Given the description of an element on the screen output the (x, y) to click on. 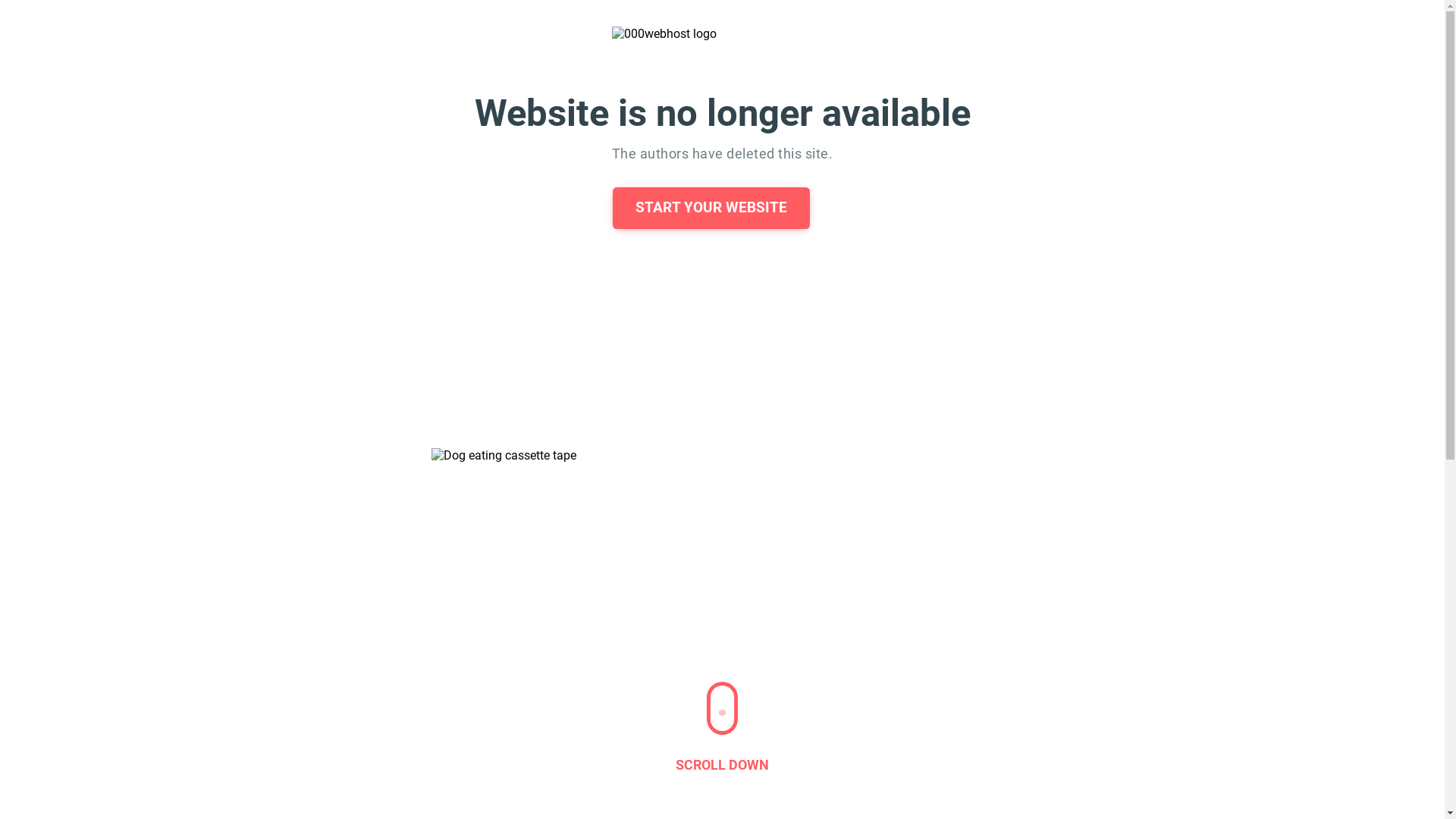
START YOUR WEBSITE Element type: text (710, 208)
